Given the description of an element on the screen output the (x, y) to click on. 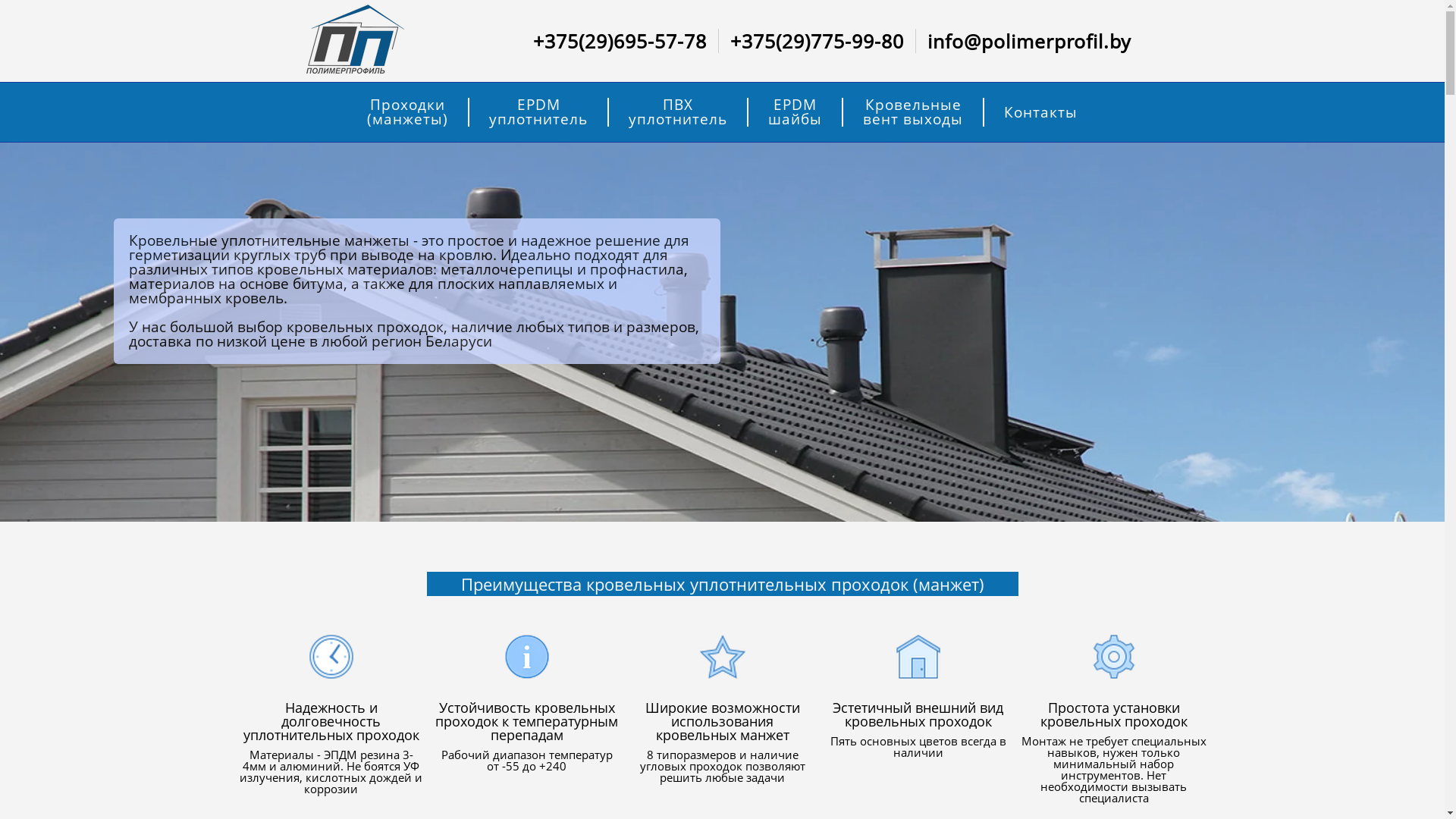
info@polimerprofil.by Element type: text (1029, 40)
+375(29)775-99-80 Element type: text (816, 40)
+375(29)695-57-78 Element type: text (619, 40)
